Given the description of an element on the screen output the (x, y) to click on. 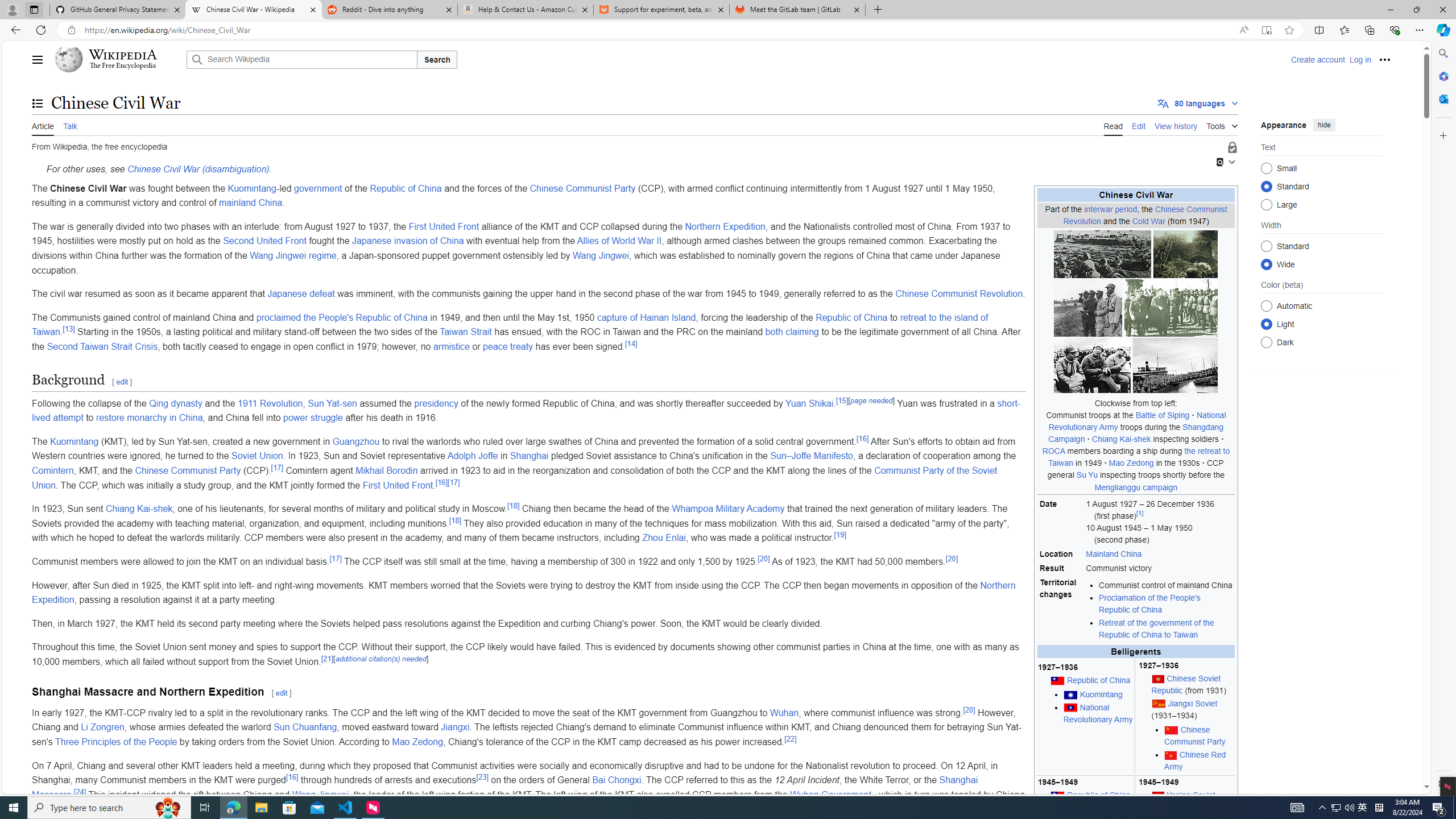
armistice (451, 346)
proclaimed the People's Republic of China (342, 317)
Light (1266, 323)
Sun Chuanfang (305, 727)
Jiangxi Soviet (1192, 703)
